Given the description of an element on the screen output the (x, y) to click on. 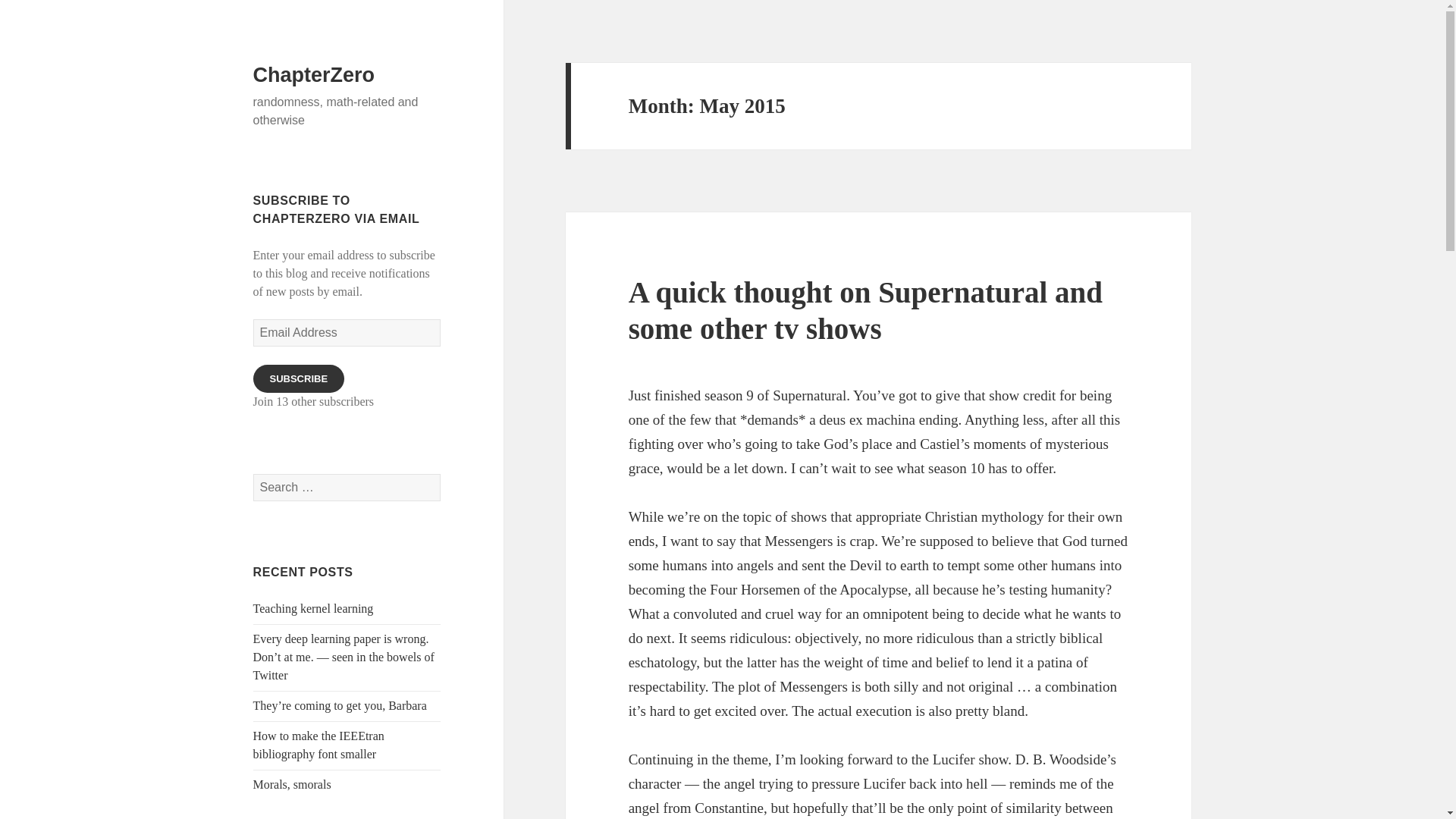
SUBSCRIBE (299, 378)
How to make the IEEEtran bibliography font smaller (318, 744)
Teaching kernel learning (313, 608)
Morals, smorals (292, 784)
ChapterZero (314, 74)
